Given the description of an element on the screen output the (x, y) to click on. 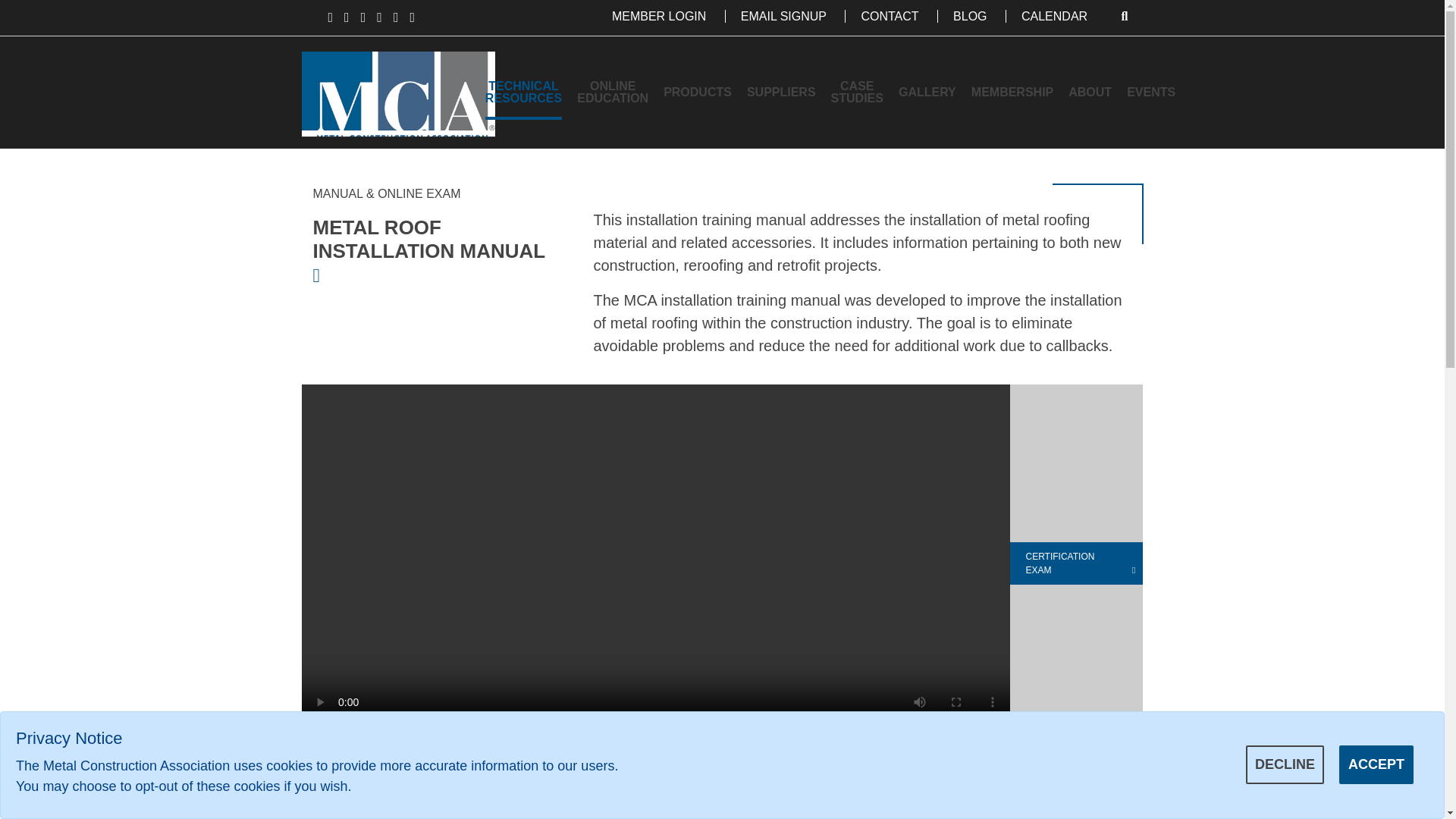
TECHNICAL RESOURCES (523, 92)
MEMBER LOGIN (658, 15)
CASE STUDIES (857, 92)
EMAIL SIGNUP (783, 15)
ONLINE EDUCATION (611, 92)
CALENDAR (1054, 15)
ABOUT (1090, 92)
Search (1124, 15)
GALLERY (927, 92)
BLOG (969, 15)
